Given the description of an element on the screen output the (x, y) to click on. 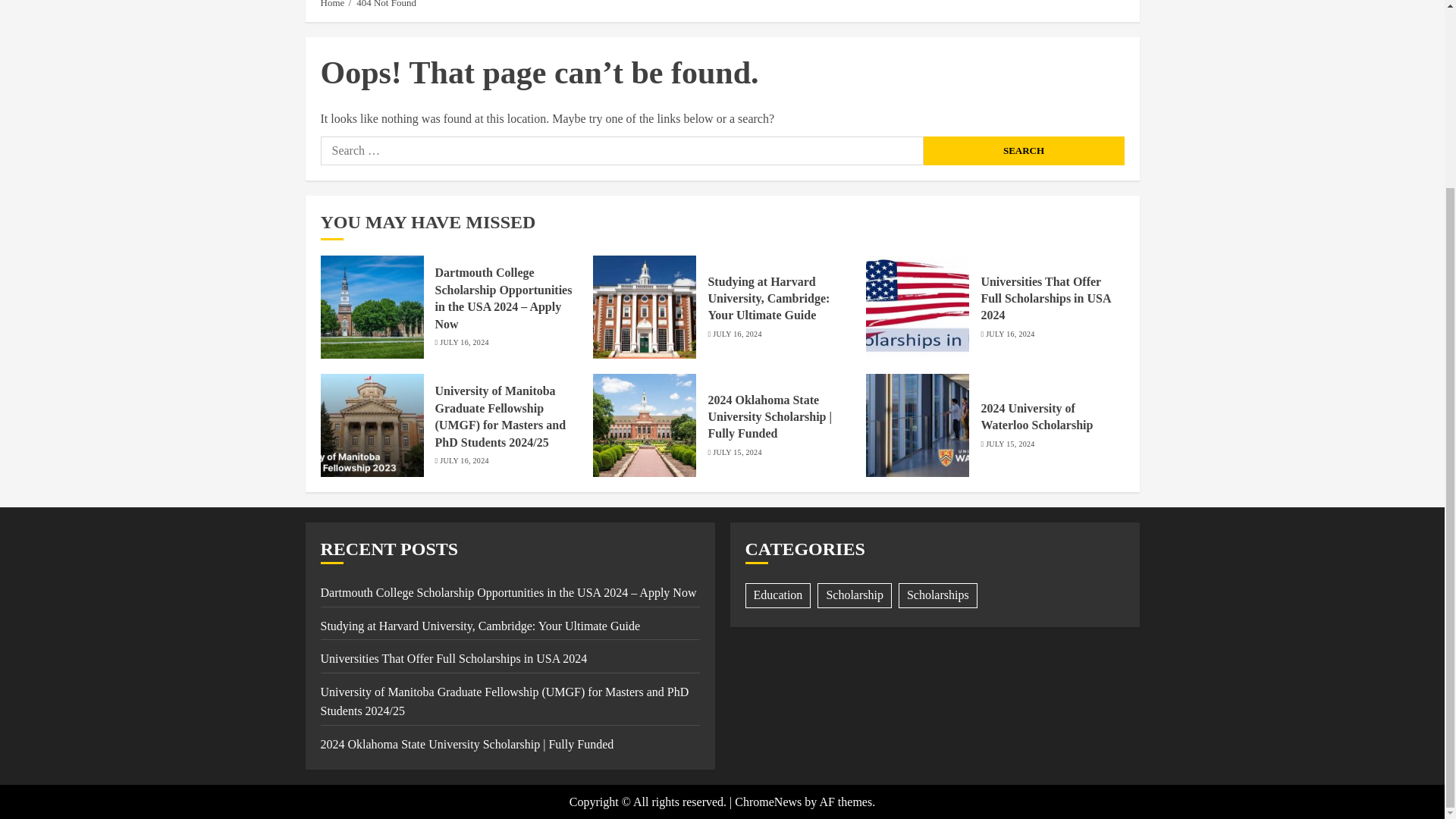
2024 University of Waterloo Scholarship (1036, 417)
404 Not Found (386, 4)
Home (331, 4)
JULY 16, 2024 (1009, 334)
JULY 16, 2024 (463, 460)
JULY 15, 2024 (1009, 443)
Search (1099, 5)
Search (1023, 150)
JULY 15, 2024 (737, 452)
Universities That Offer Full Scholarships in USA 2024 (453, 658)
JULY 16, 2024 (737, 334)
JULY 16, 2024 (463, 342)
Search (1023, 150)
